Given the description of an element on the screen output the (x, y) to click on. 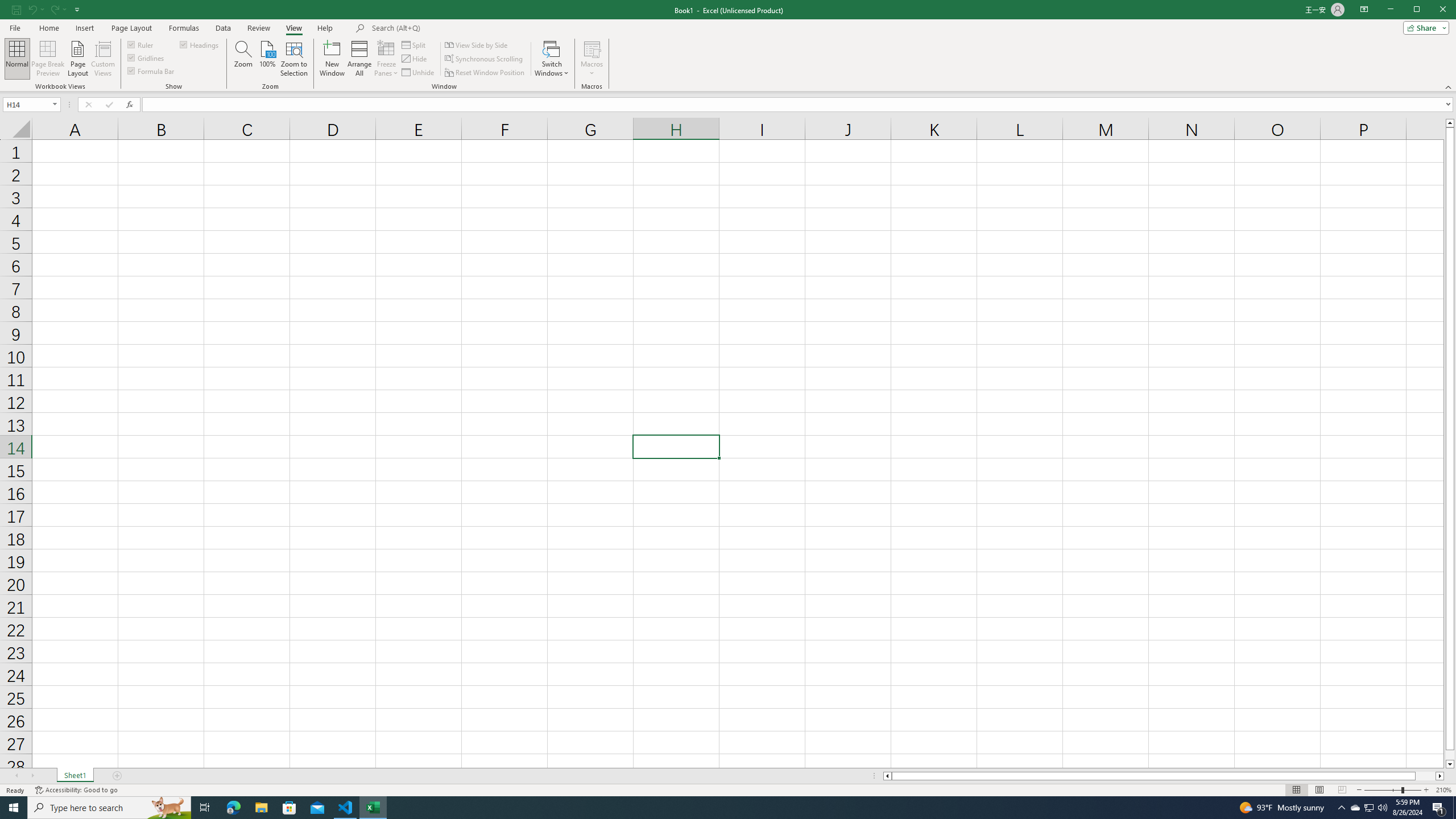
Switch Windows (551, 58)
Freeze Panes (386, 58)
Zoom... (242, 58)
Unhide... (419, 72)
